Given the description of an element on the screen output the (x, y) to click on. 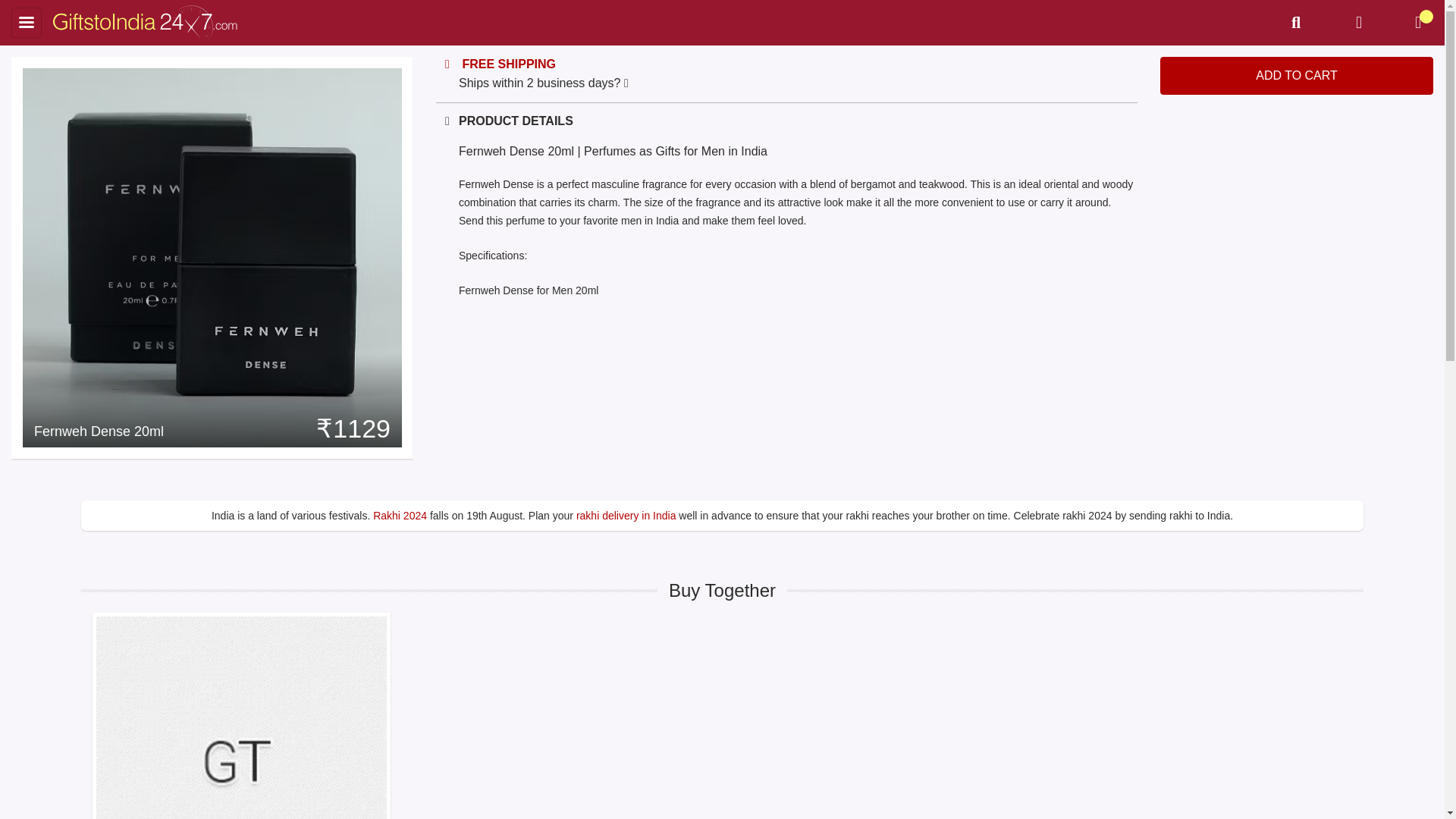
menu (26, 22)
